Given the description of an element on the screen output the (x, y) to click on. 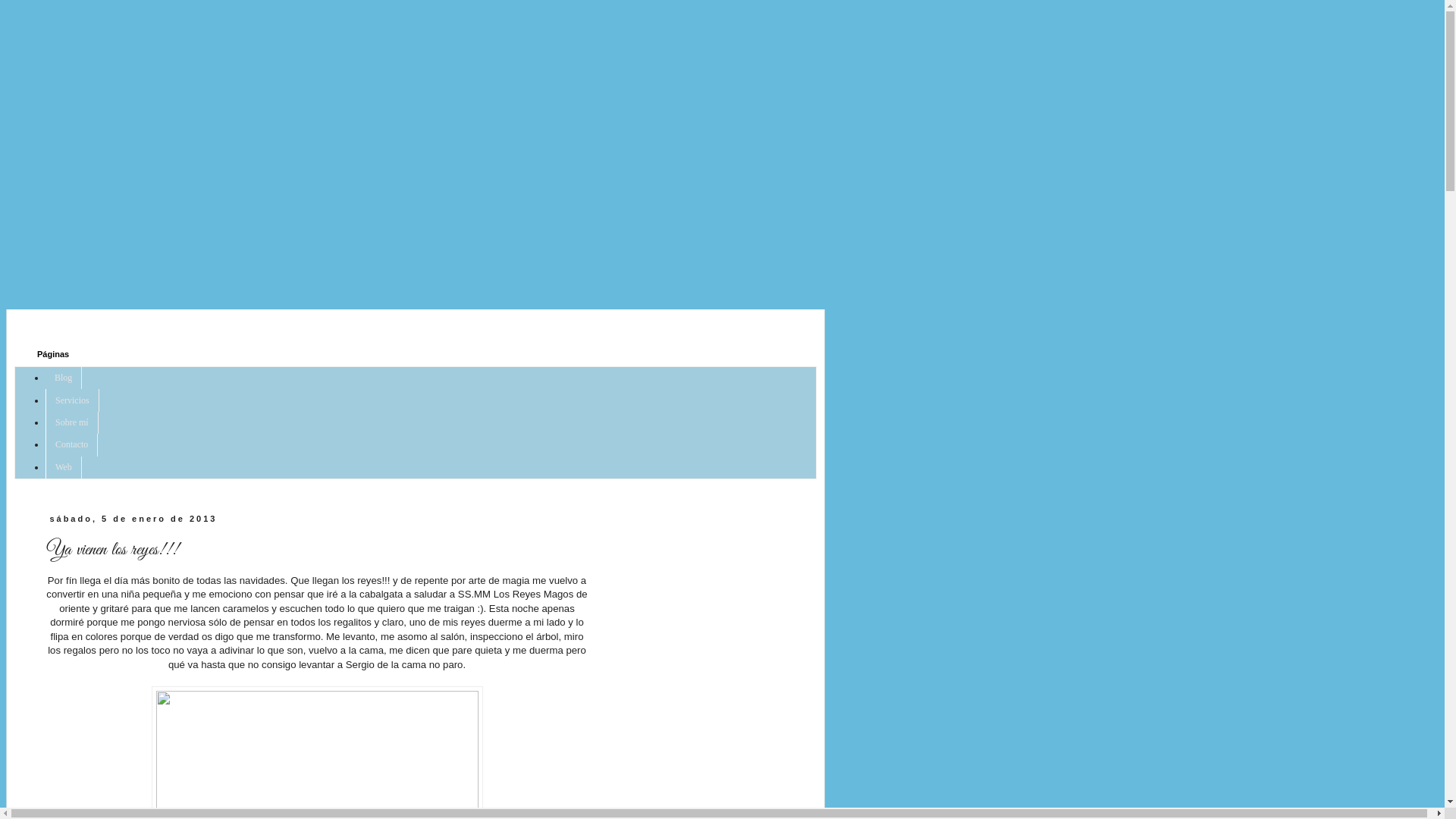
Web Element type: text (63, 467)
Servicios Element type: text (72, 400)
Blog Element type: text (63, 378)
Contacto Element type: text (71, 444)
